Given the description of an element on the screen output the (x, y) to click on. 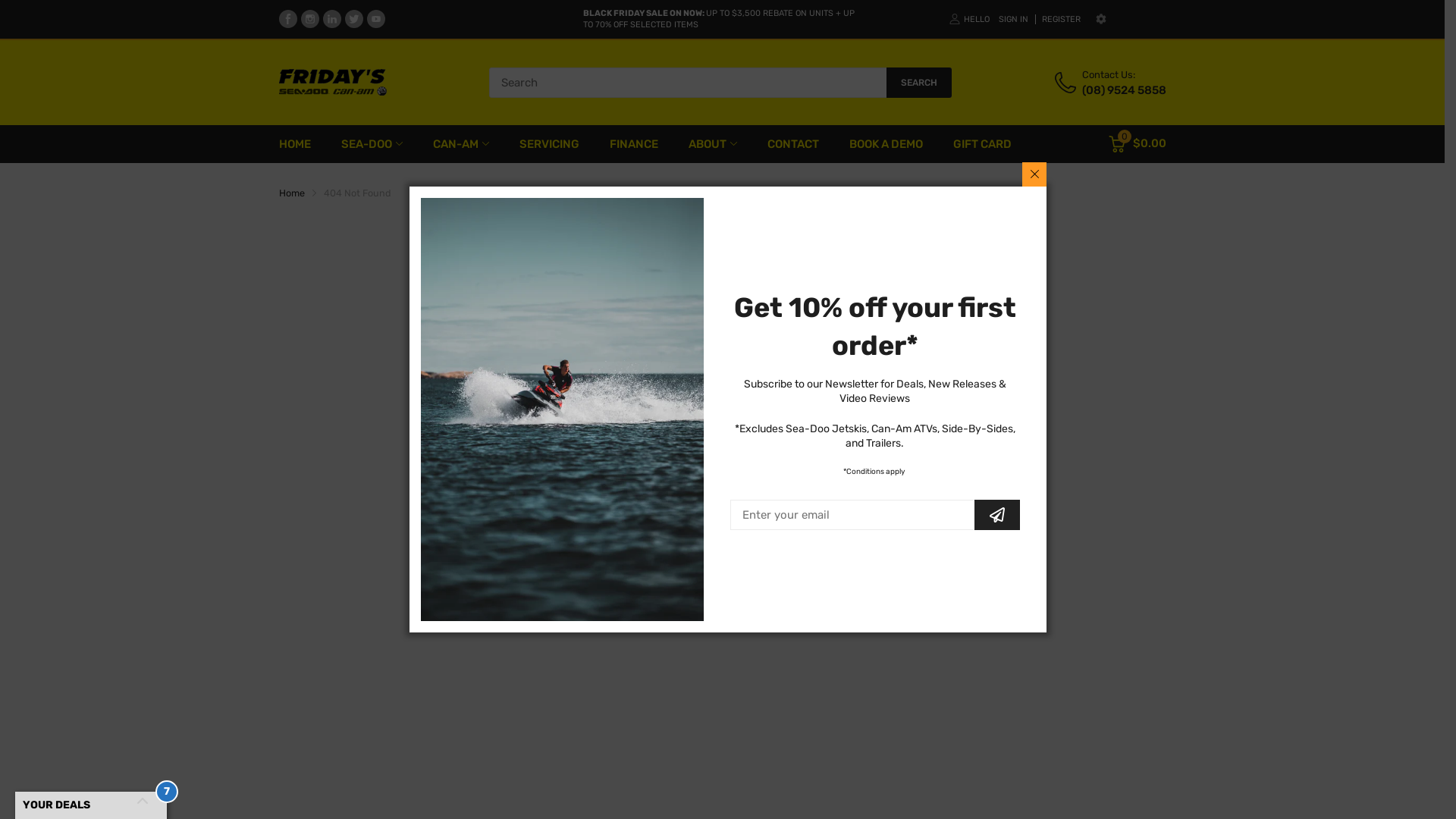
Instagram Element type: hover (309, 18)
BOOK A DEMO Element type: text (885, 144)
SEARCH Element type: text (918, 82)
CAN-AM Element type: text (454, 144)
FINANCE Element type: text (633, 144)
LinkedIn Element type: hover (332, 18)
Go back to Homepage Element type: text (721, 609)
Home Element type: text (291, 192)
Close Element type: hover (1034, 174)
GIFT CARD Element type: text (981, 144)
(08) 9524 5858 Element type: text (1123, 90)
ABOUT Element type: text (707, 144)
Facebook Element type: hover (288, 18)
SERVICING Element type: text (548, 144)
SIGN IN Element type: text (1013, 19)
Search Element type: text (857, 550)
Twitter Element type: hover (353, 18)
HELLO Element type: text (969, 19)
REGISTER Element type: text (1057, 19)
CONTACT Element type: text (793, 144)
SEA-DOO Element type: text (366, 144)
0 Element type: text (1116, 143)
YouTube Element type: hover (376, 18)
HOME Element type: text (294, 144)
404 Not Found Element type: text (356, 192)
